Given the description of an element on the screen output the (x, y) to click on. 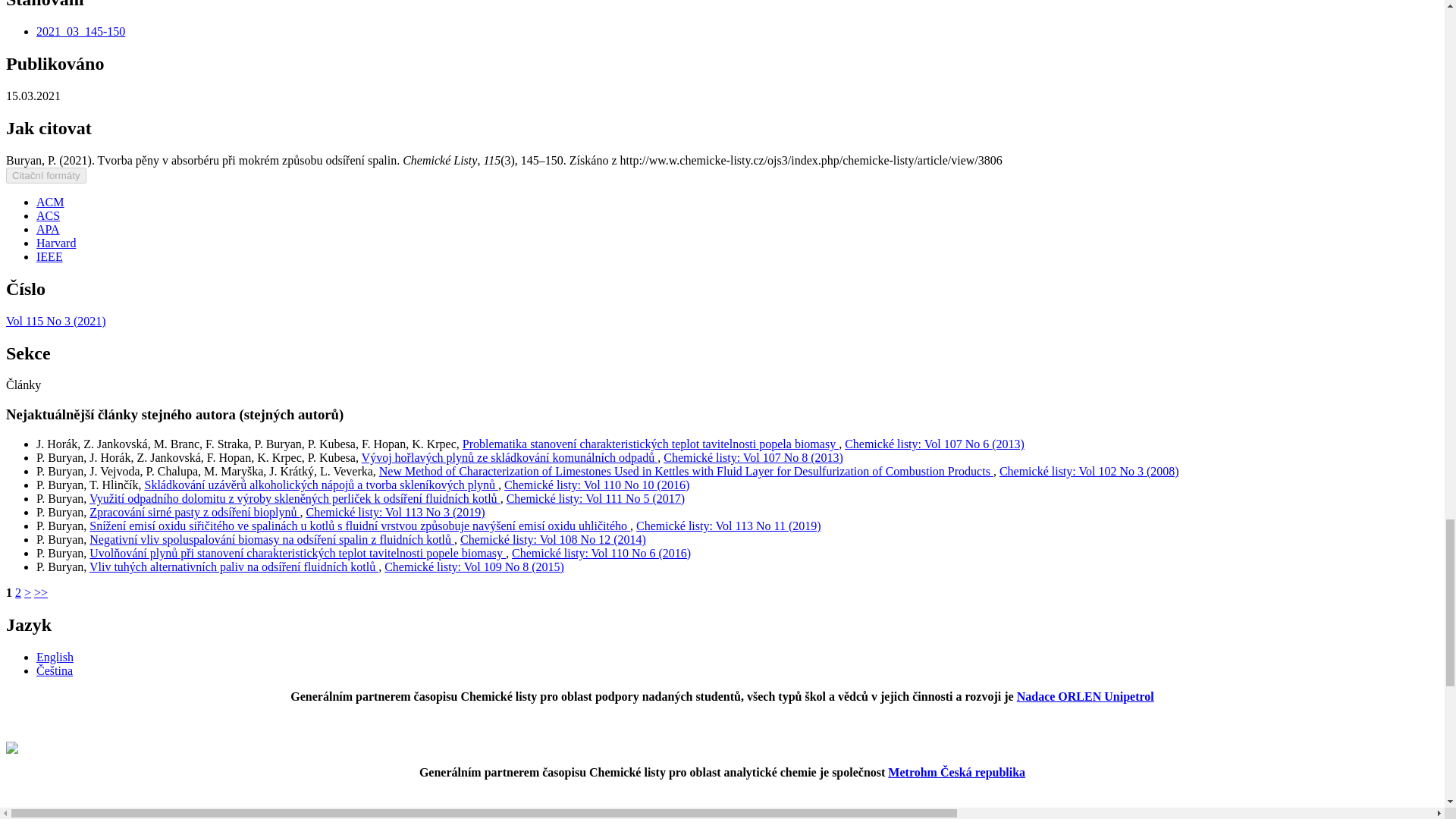
IEEE (49, 256)
ACM (50, 201)
APA (47, 228)
Harvard (55, 242)
ACS (47, 215)
Nadace ORLEN Unipetrol (1085, 696)
